Given the description of an element on the screen output the (x, y) to click on. 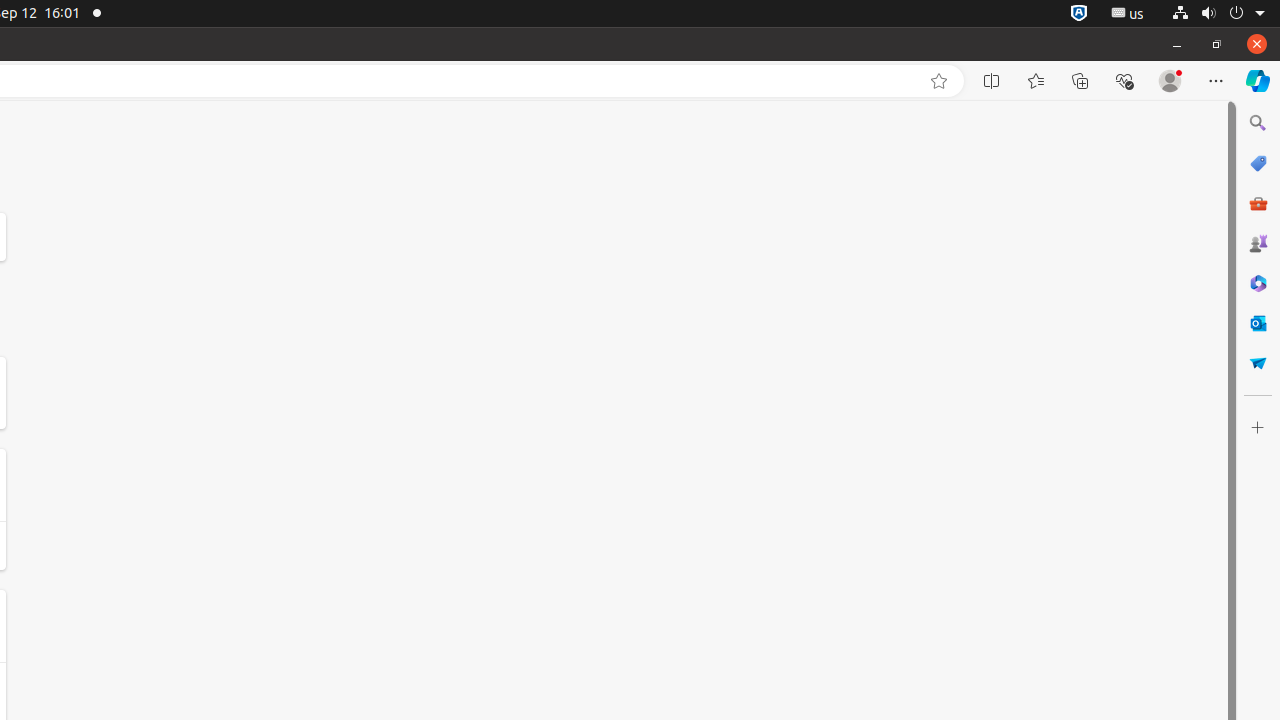
Settings and more (Alt+F) Element type: push-button (1216, 81)
Tools Element type: push-button (1258, 202)
Browser essentials Element type: push-button (1124, 81)
Profile 1 Profile, Please sign in Element type: push-button (1170, 81)
Favorites Element type: push-button (1036, 81)
